Given the description of an element on the screen output the (x, y) to click on. 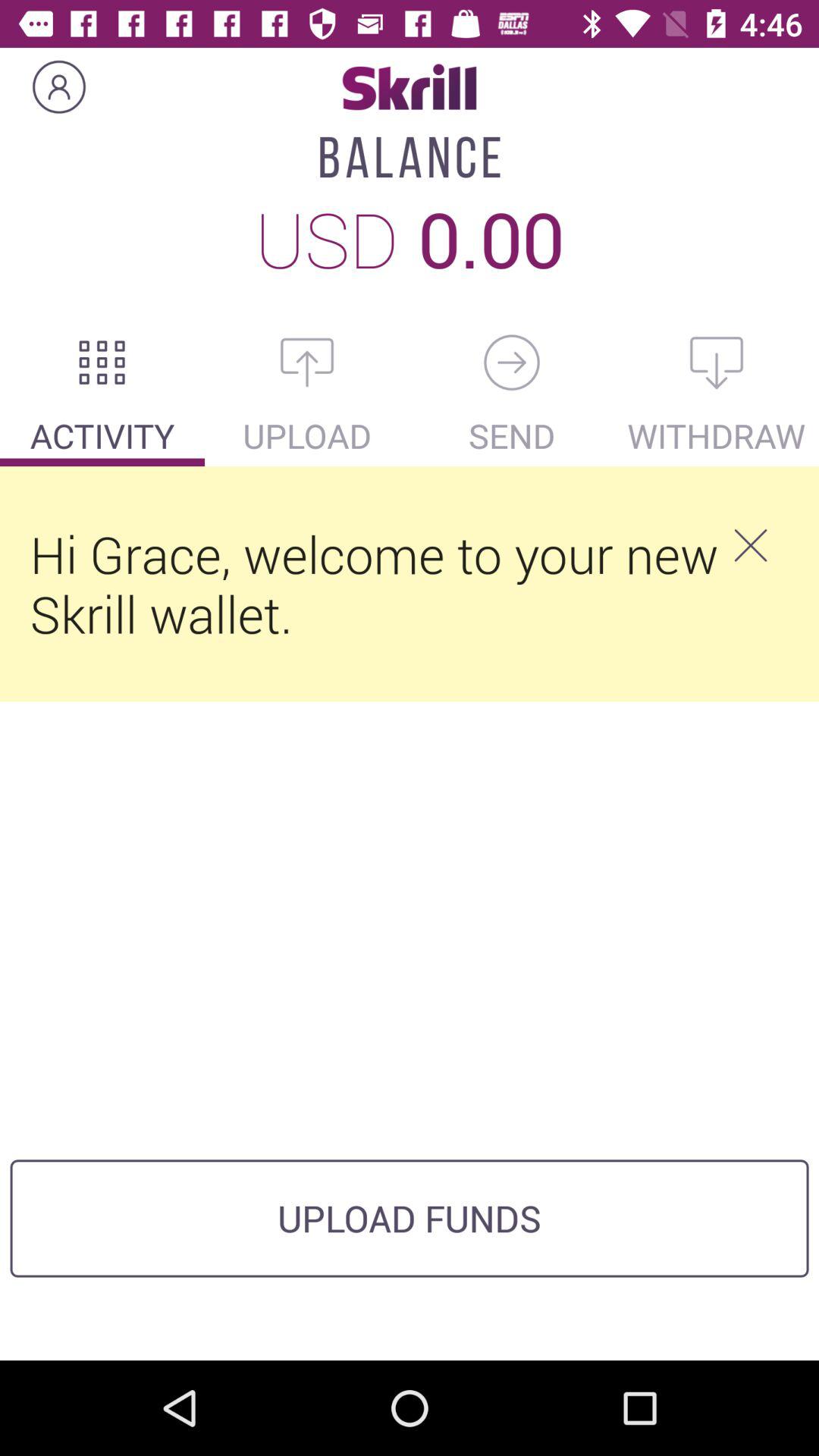
send money (511, 362)
